Given the description of an element on the screen output the (x, y) to click on. 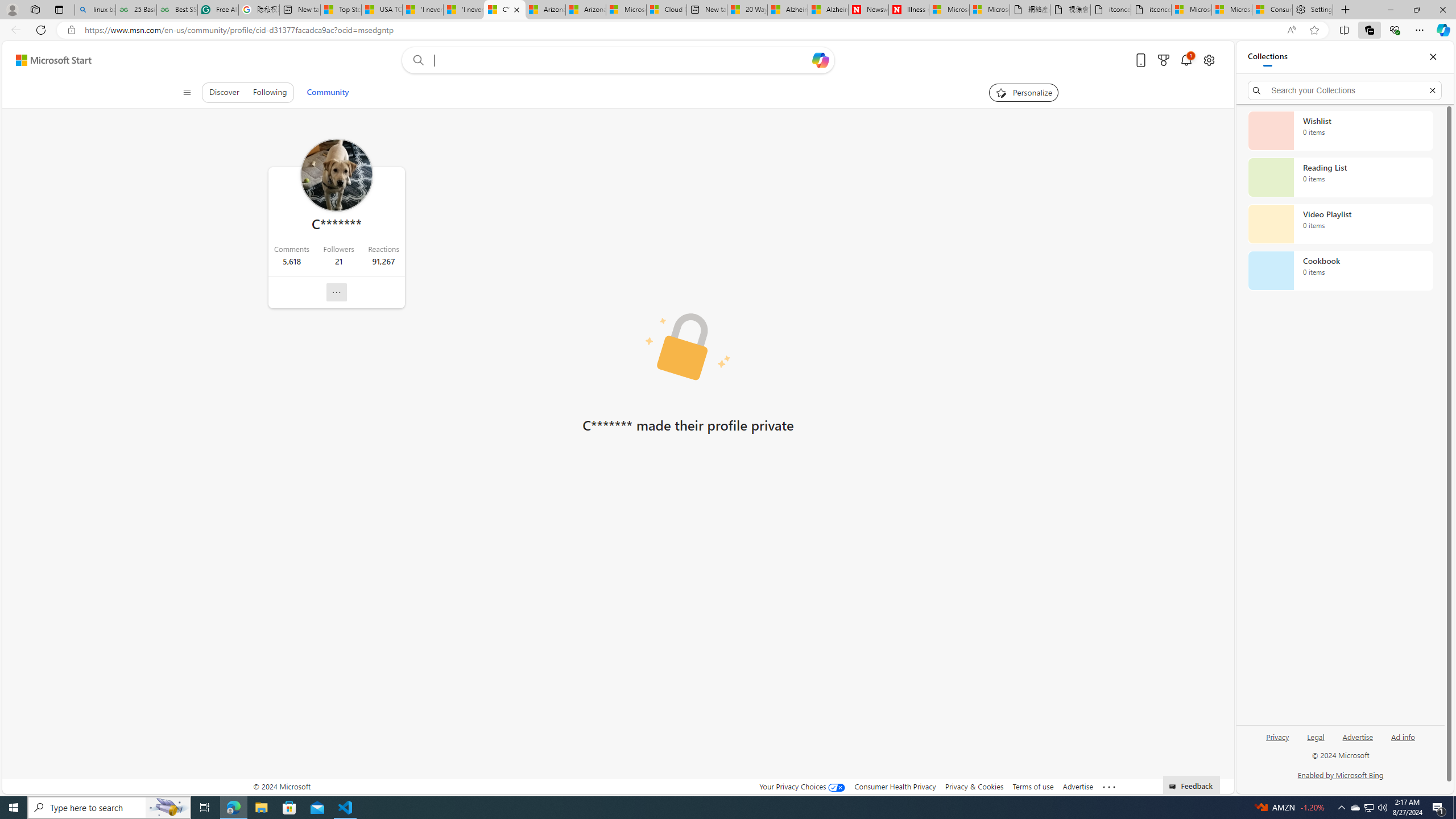
Exit search (1432, 90)
Wishlist collection, 0 items (1339, 130)
itconcepthk.com/projector_solutions.mp4 (1150, 9)
C******* | Trusted Community Engagement and Contributions (504, 9)
